Given the description of an element on the screen output the (x, y) to click on. 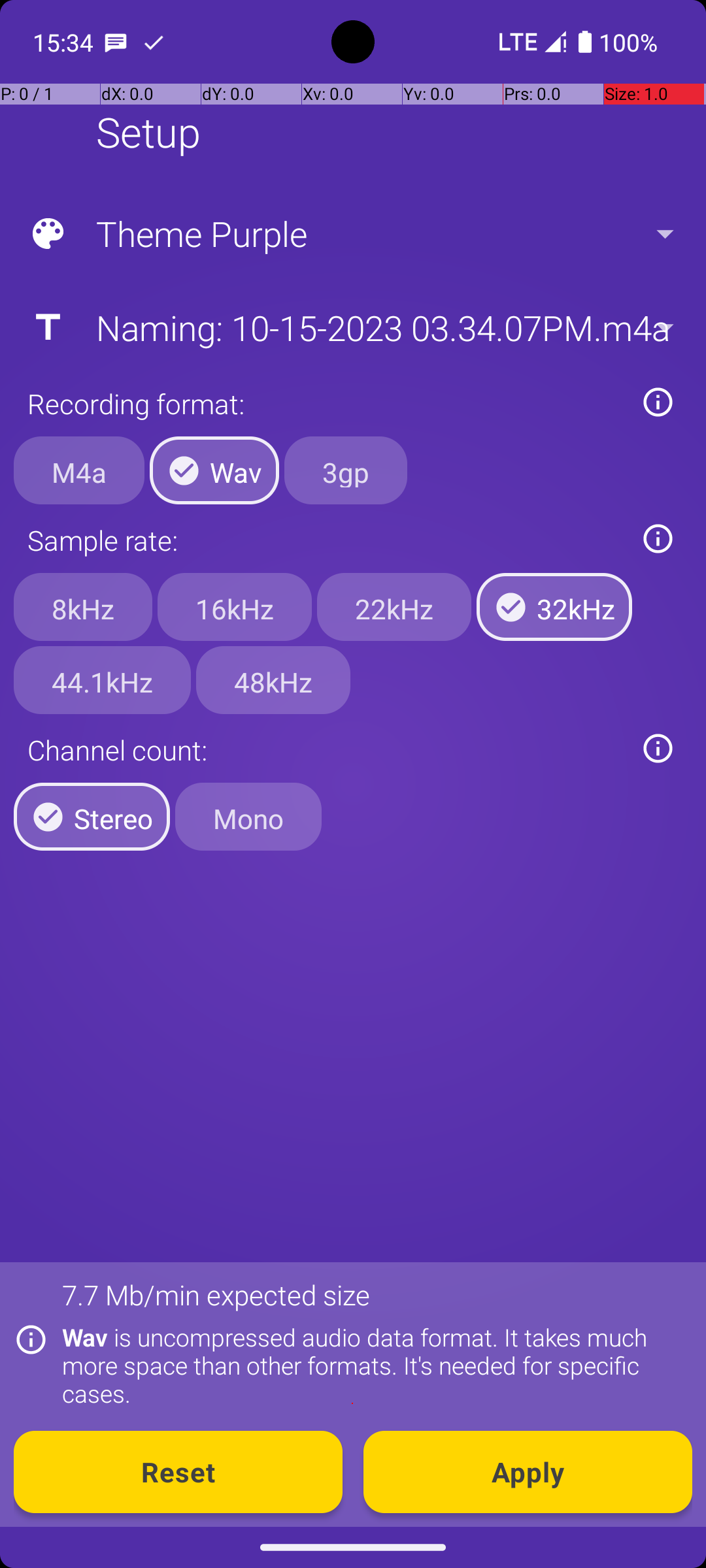
7.7 Mb/min expected size Element type: android.widget.TextView (215, 1294)
Wav is uncompressed audio data format. It takes much more space than other formats. It's needed for specific cases. Element type: android.widget.TextView (370, 1364)
Theme Purple Element type: android.widget.TextView (352, 233)
Naming: 10-15-2023 03.34.07PM.m4a Element type: android.widget.TextView (352, 327)
SMS Messenger notification: Daniel Ali Element type: android.widget.ImageView (115, 41)
Contacts notification: Finished exporting contacts.vcf. Element type: android.widget.ImageView (153, 41)
